Given the description of an element on the screen output the (x, y) to click on. 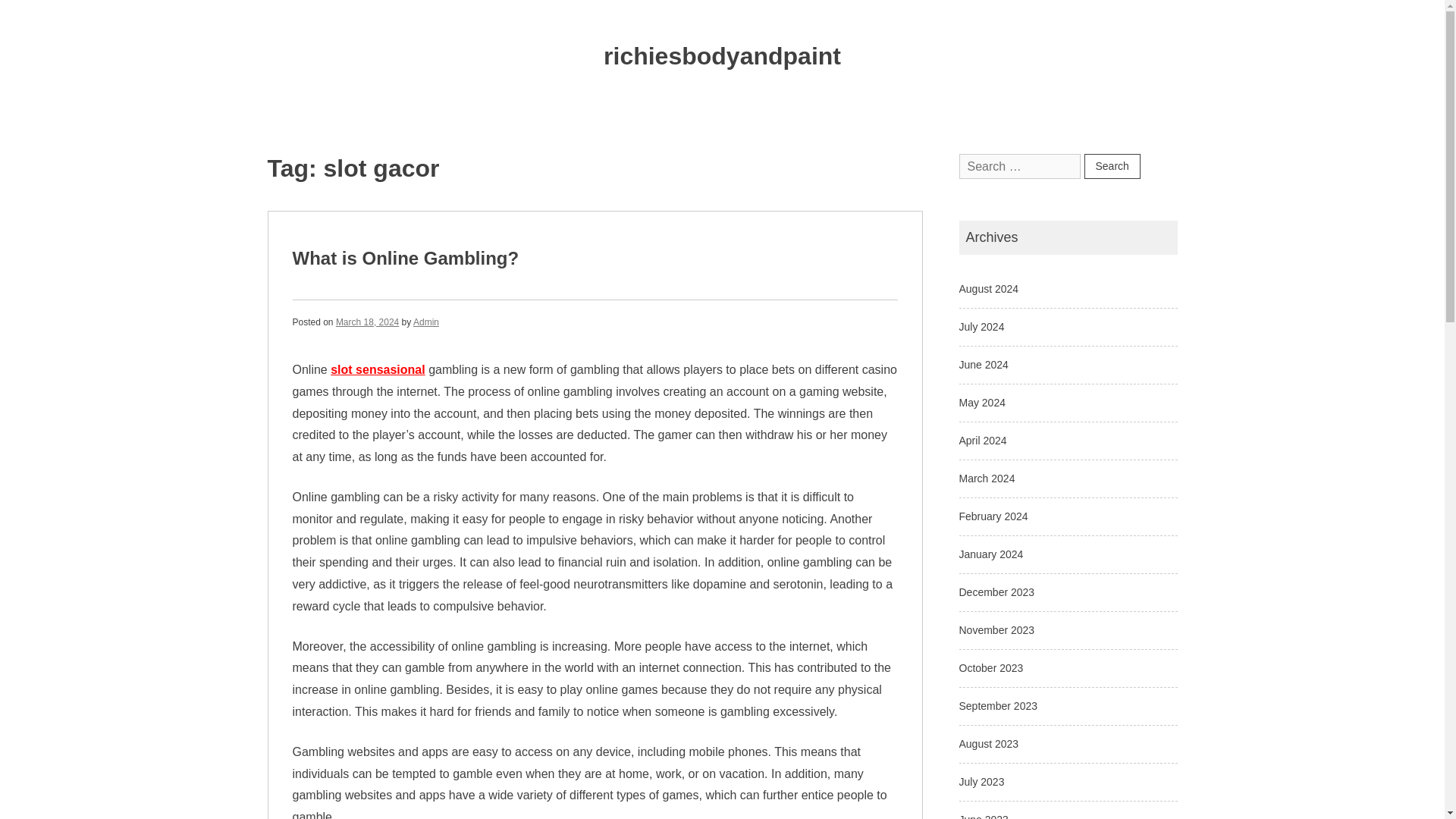
richiesbodyandpaint (722, 55)
August 2023 (987, 743)
Search (1112, 166)
July 2024 (981, 326)
Admin (426, 321)
August 2024 (987, 288)
March 18, 2024 (367, 321)
September 2023 (997, 705)
What is Online Gambling? (405, 258)
June 2023 (982, 816)
Search (1112, 166)
slot sensasional (377, 369)
October 2023 (990, 667)
June 2024 (982, 364)
March 2024 (986, 478)
